Given the description of an element on the screen output the (x, y) to click on. 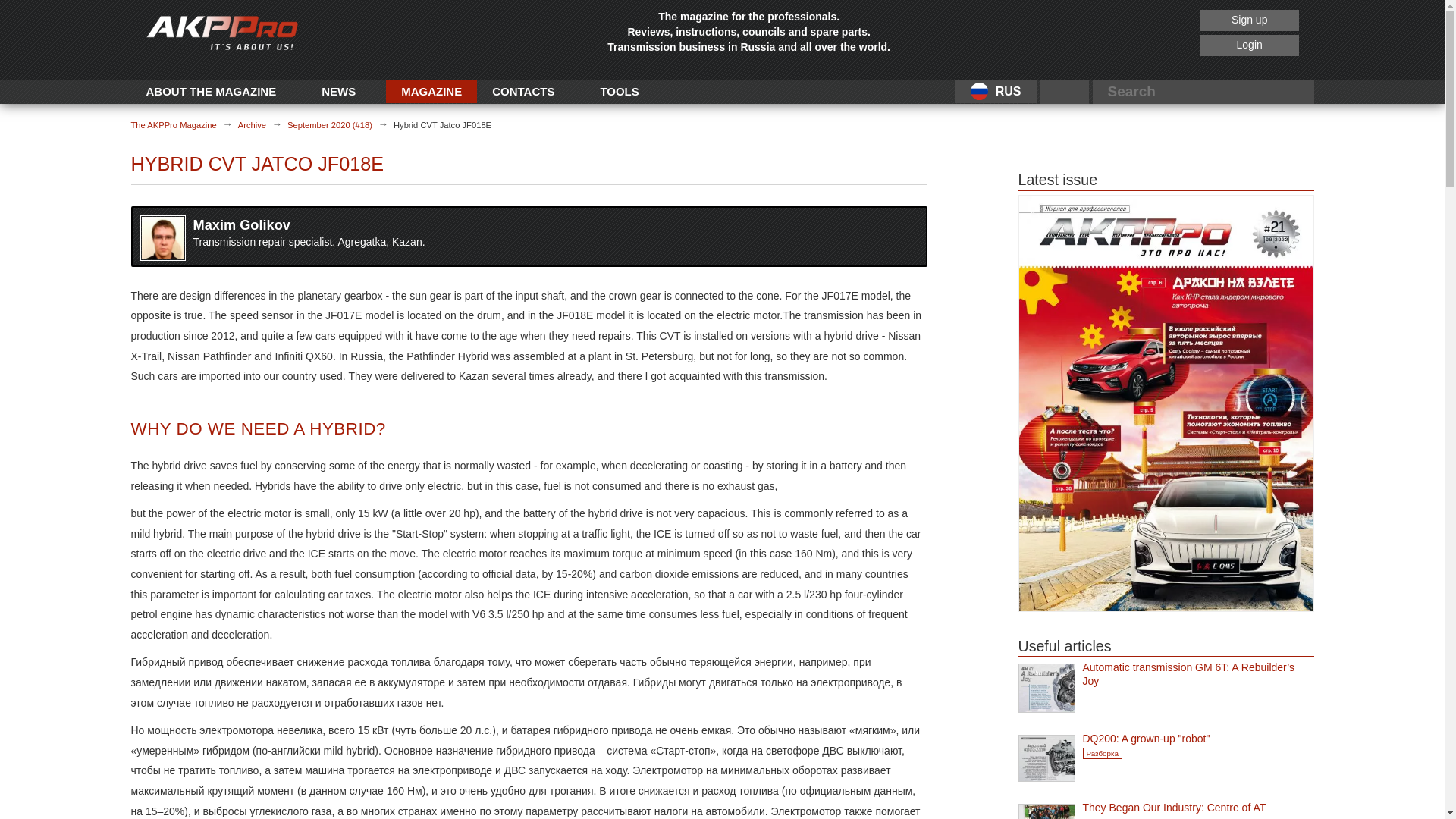
Archive (252, 124)
The AKPPro Magazine (173, 124)
CONTACTS (523, 91)
NEWS (338, 91)
ABOUT THE MAGAZINE (211, 91)
TOOLS (619, 91)
RUS (995, 92)
DQ200: A grown-up "robot" (1198, 738)
Switch color scheme (1065, 91)
